Given the description of an element on the screen output the (x, y) to click on. 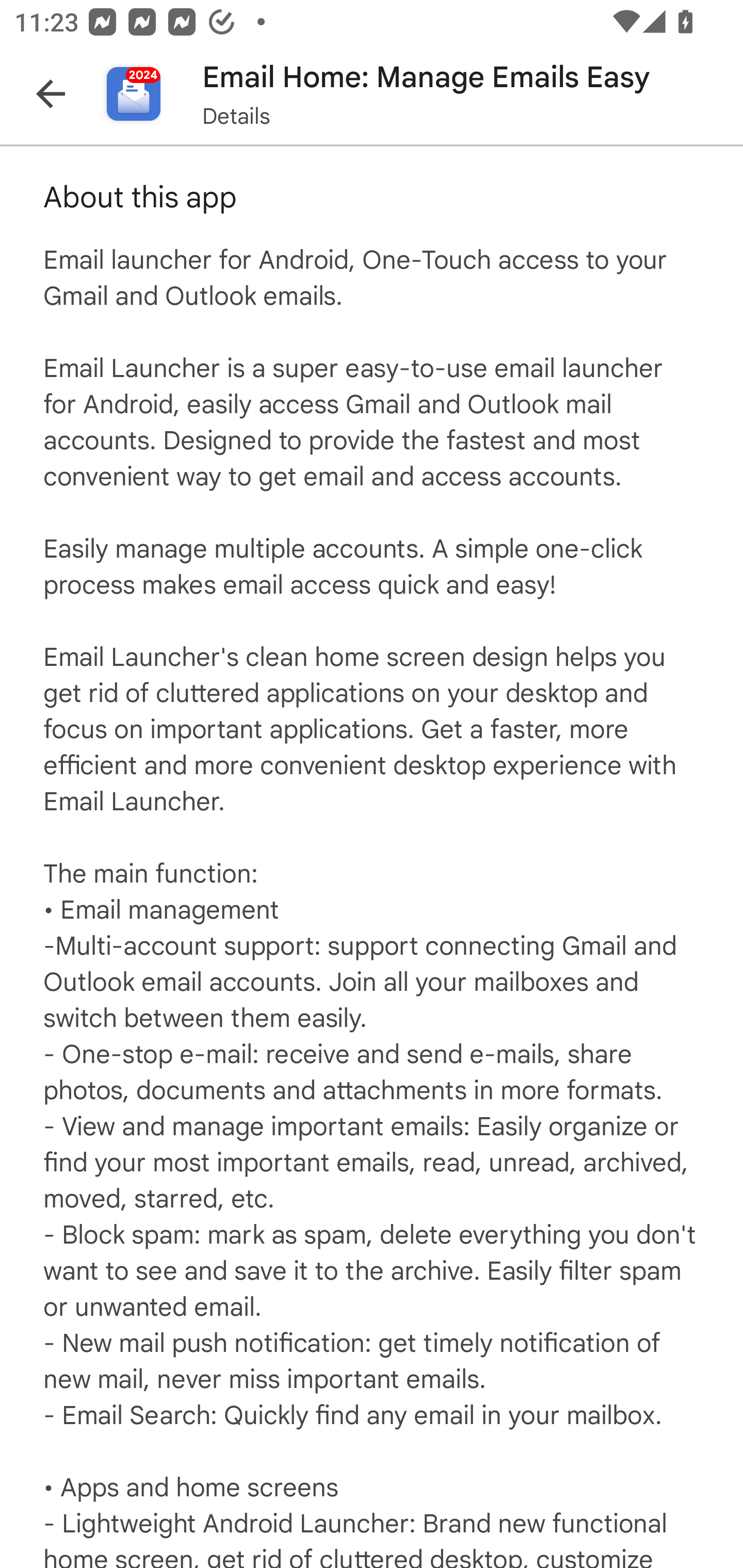
Navigate up (50, 93)
